Given the description of an element on the screen output the (x, y) to click on. 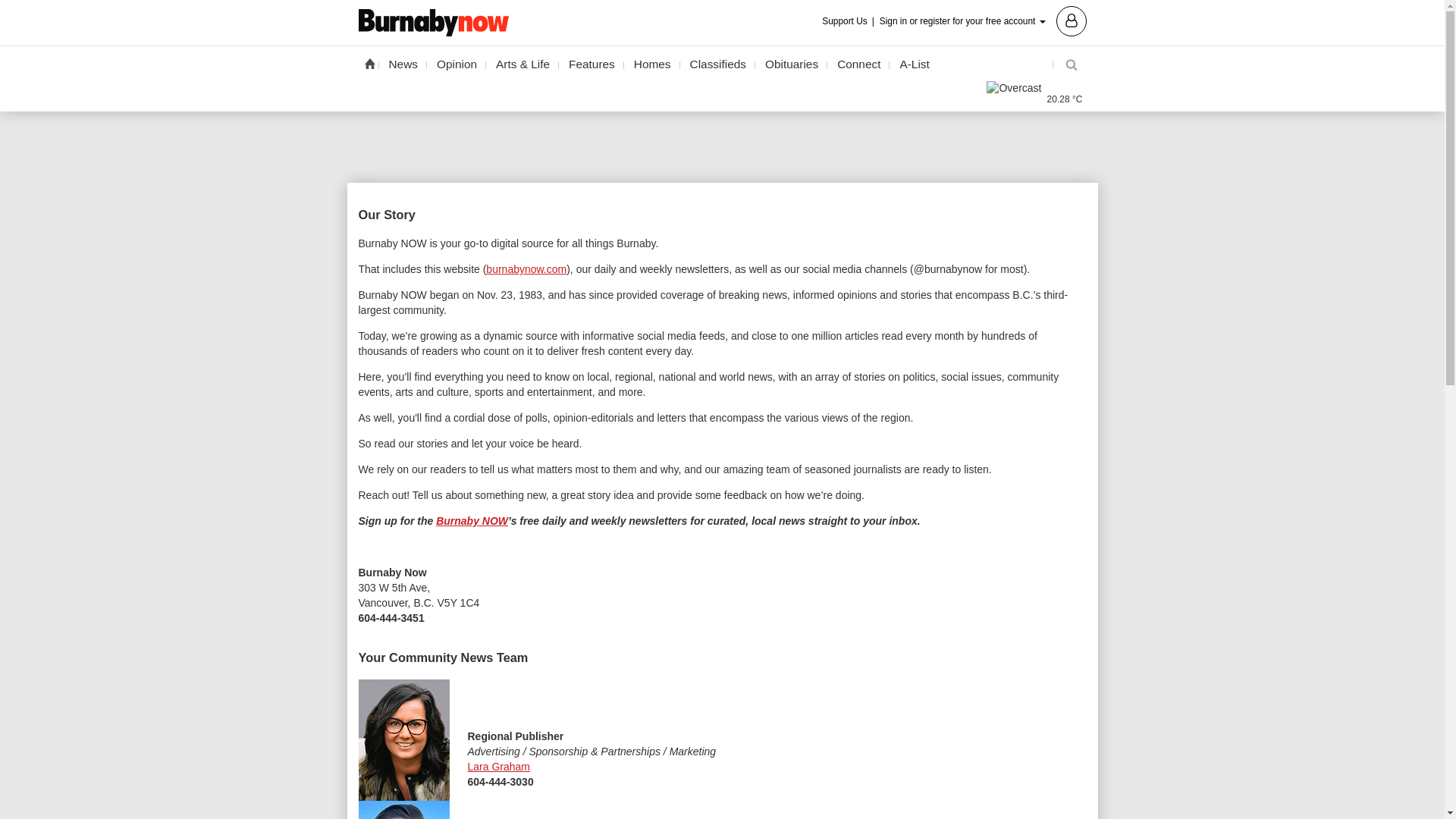
Sign in or register for your free account (982, 20)
Opinion (456, 64)
News (403, 64)
Home (368, 63)
Support Us (849, 21)
